Given the description of an element on the screen output the (x, y) to click on. 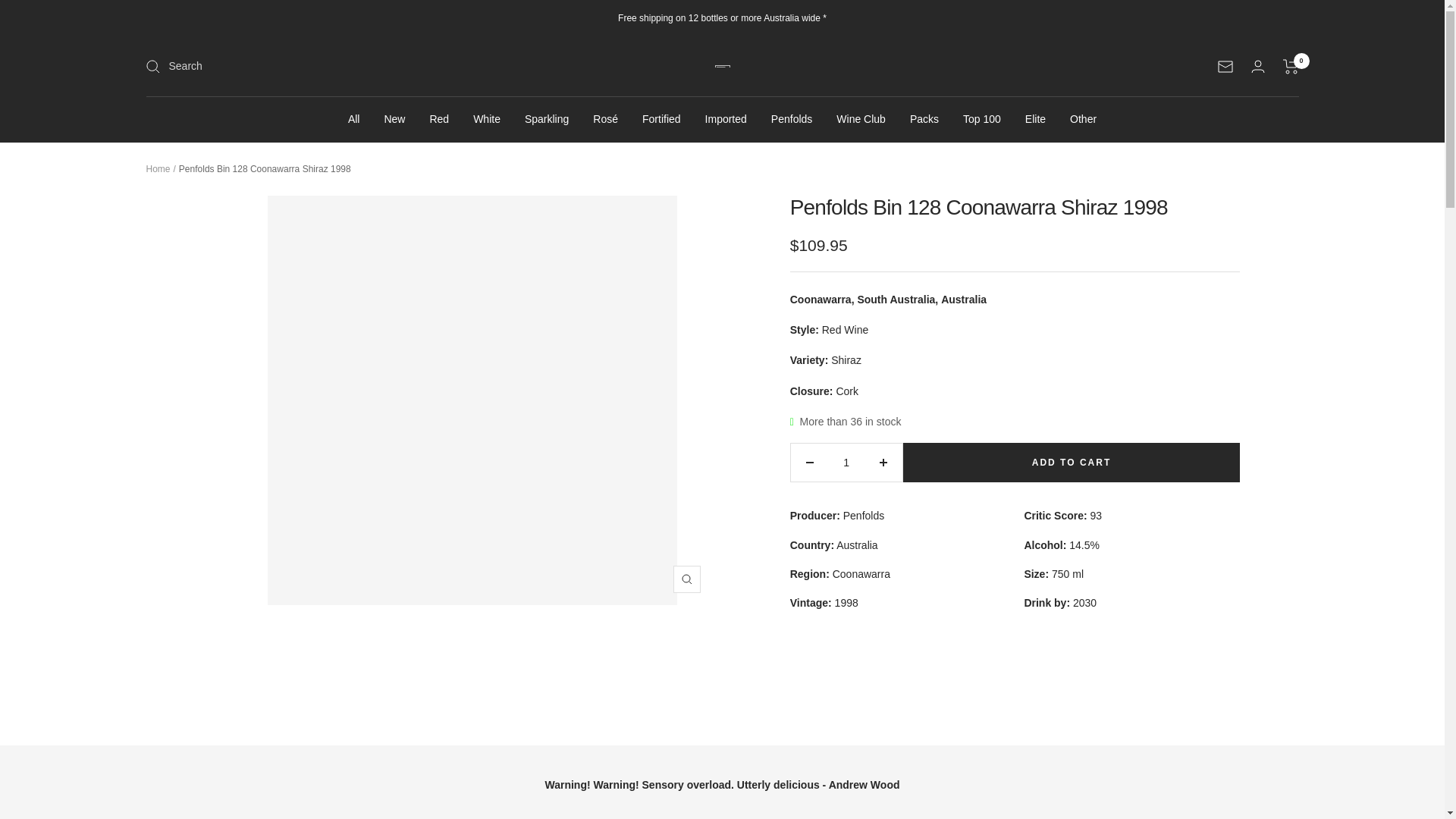
1 (846, 462)
Red (438, 118)
Sparkling (546, 118)
Other (1083, 118)
Home (157, 168)
Fortified (661, 118)
0 (1290, 66)
Top 100 (981, 118)
Elite (1035, 118)
White (486, 118)
Imported (725, 118)
Wine Club (860, 118)
Newsletter (1225, 66)
Packs (924, 118)
